Given the description of an element on the screen output the (x, y) to click on. 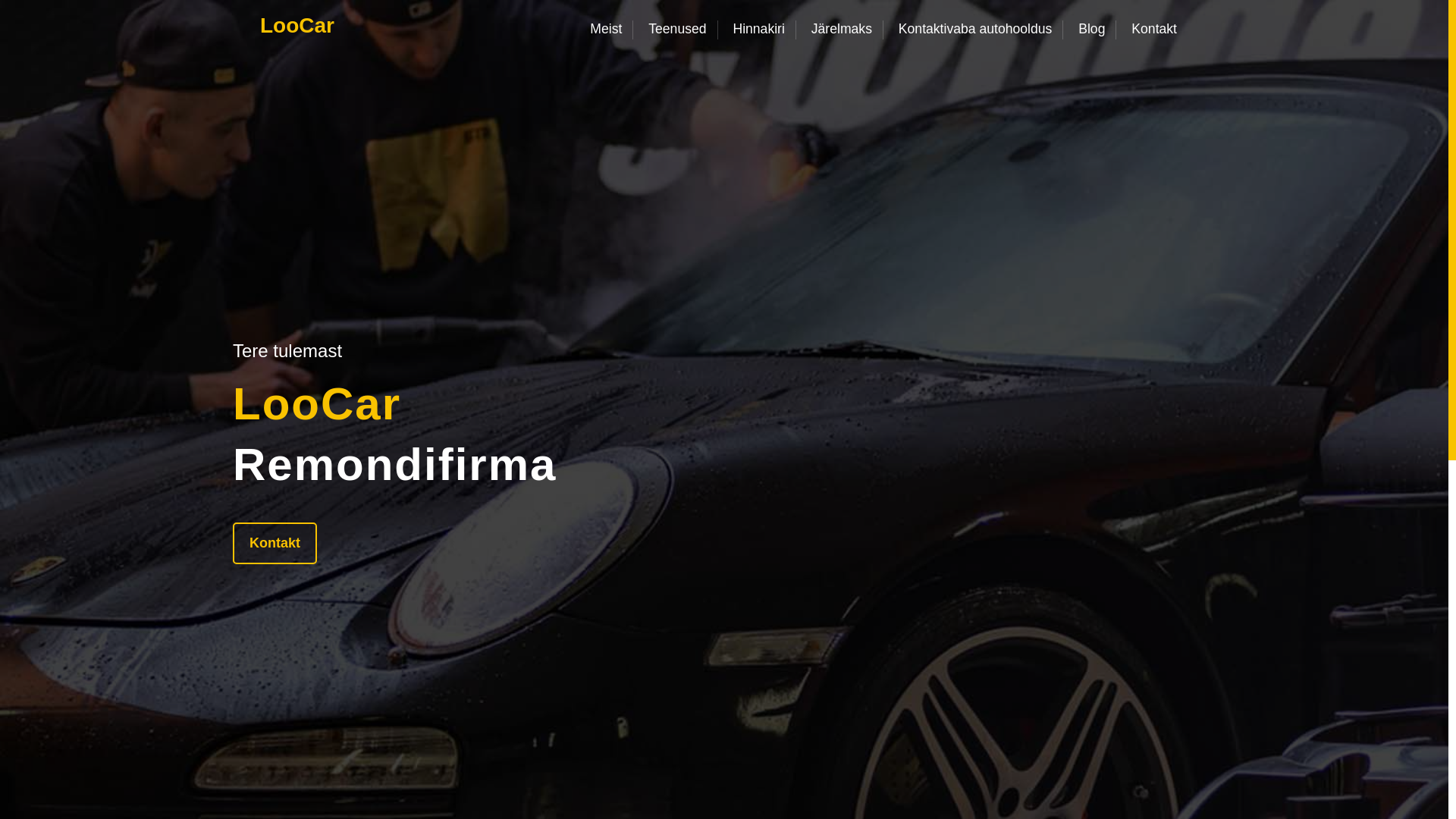
Kontakt (274, 542)
Kontaktivaba autohooldus (974, 28)
Blog (1091, 28)
Kontakt (1153, 28)
Teenused (677, 28)
Hinnakiri (757, 28)
LooCar (297, 25)
Meist (611, 28)
